Given the description of an element on the screen output the (x, y) to click on. 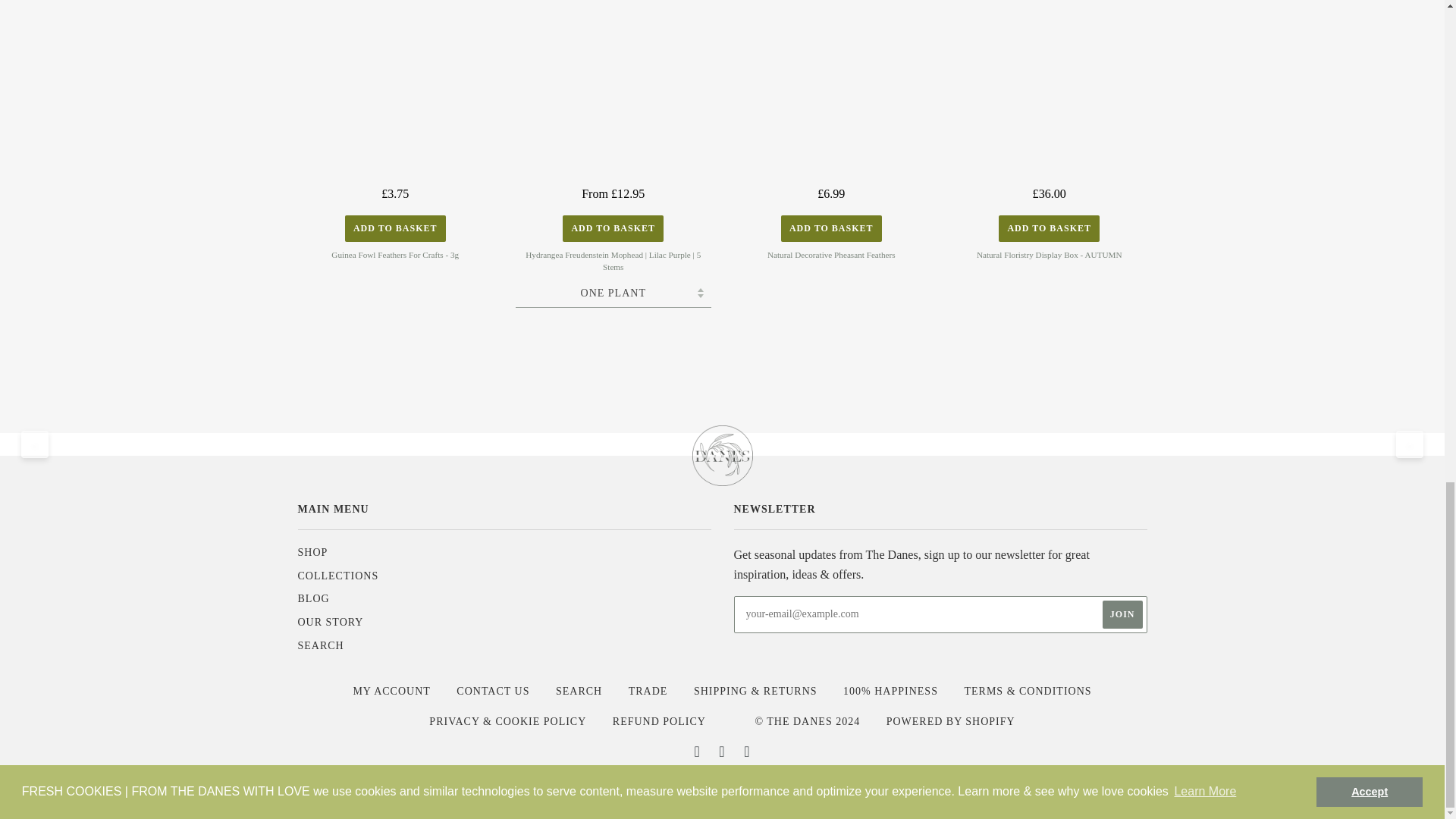
Join (1122, 614)
SHOP PAY (857, 786)
AMERICAN EXPRESS (497, 786)
UNION PAY (902, 786)
MAESTRO (722, 786)
MASTERCARD (767, 786)
PAYPAL (812, 786)
DINERS CLUB (586, 786)
GOOGLE PAY (676, 786)
VISA (947, 786)
APPLE PAY (541, 786)
DISCOVER (631, 786)
